Given the description of an element on the screen output the (x, y) to click on. 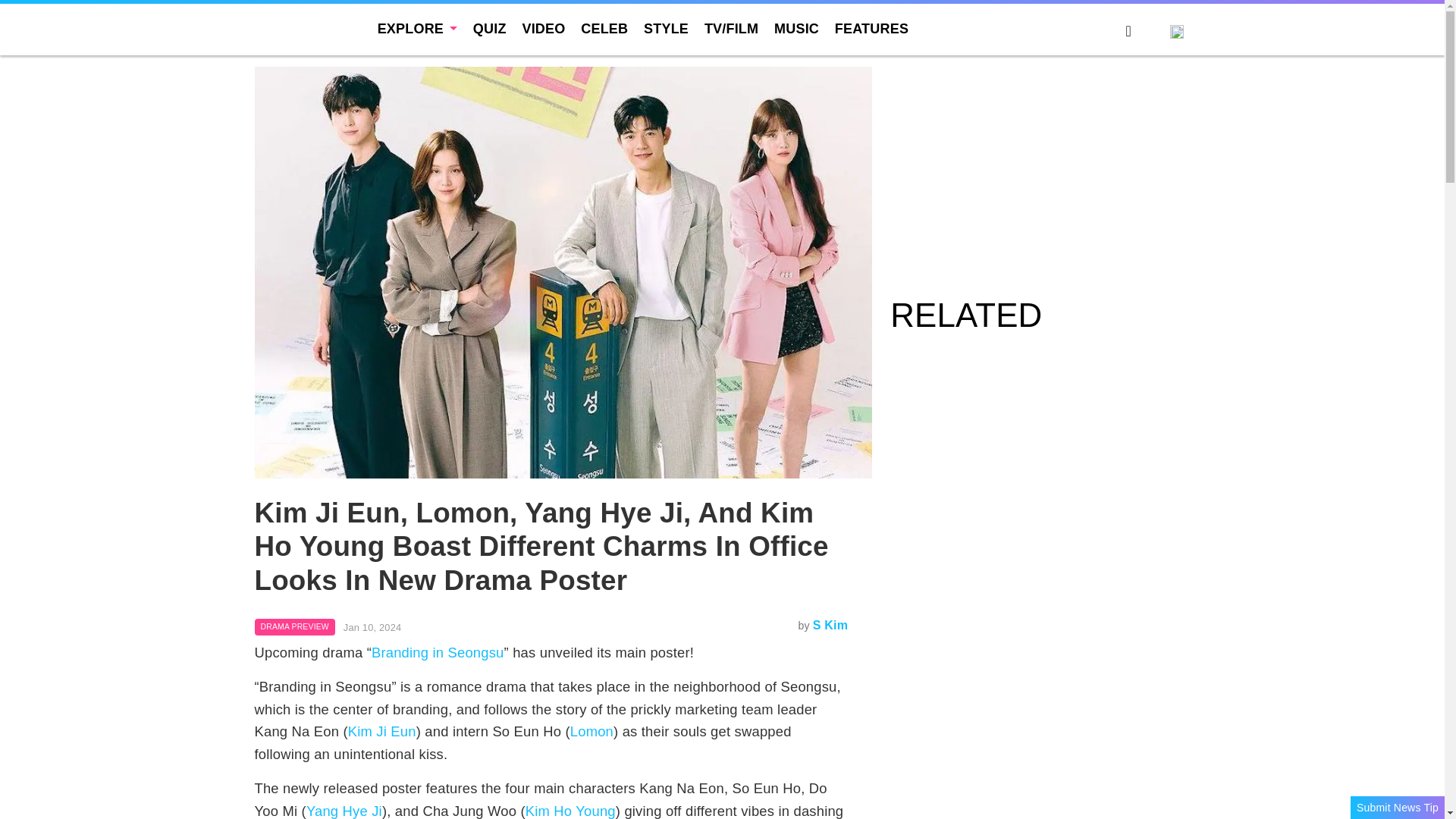
Kim Ho Young (570, 811)
Kim Ji Eun (381, 731)
Drama Preview (294, 627)
FEATURES (871, 28)
VIDEO (542, 28)
MUSIC (796, 28)
EXPLORE (417, 28)
DRAMA PREVIEW (294, 627)
STYLE (665, 28)
S Kim (829, 625)
